Given the description of an element on the screen output the (x, y) to click on. 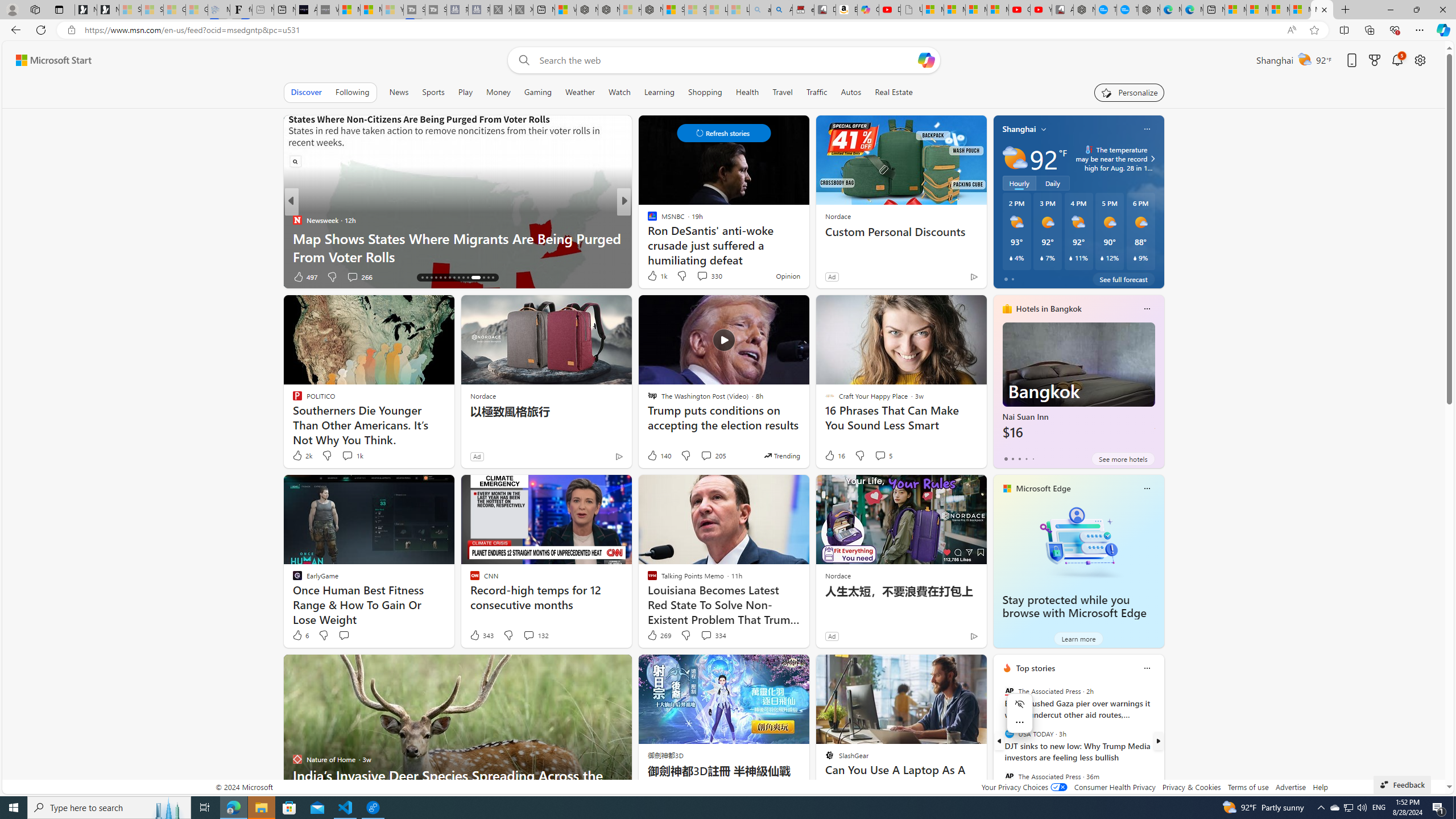
Top stories (1035, 668)
Privacy & Cookies (1191, 786)
Daily (1052, 183)
Microsoft account | Privacy (1300, 9)
AutomationID: tab-26 (467, 277)
Mini menu on text selection (1019, 712)
amazon - Search - Sleeping (760, 9)
AutomationID: tab-23 (454, 277)
